Given the description of an element on the screen output the (x, y) to click on. 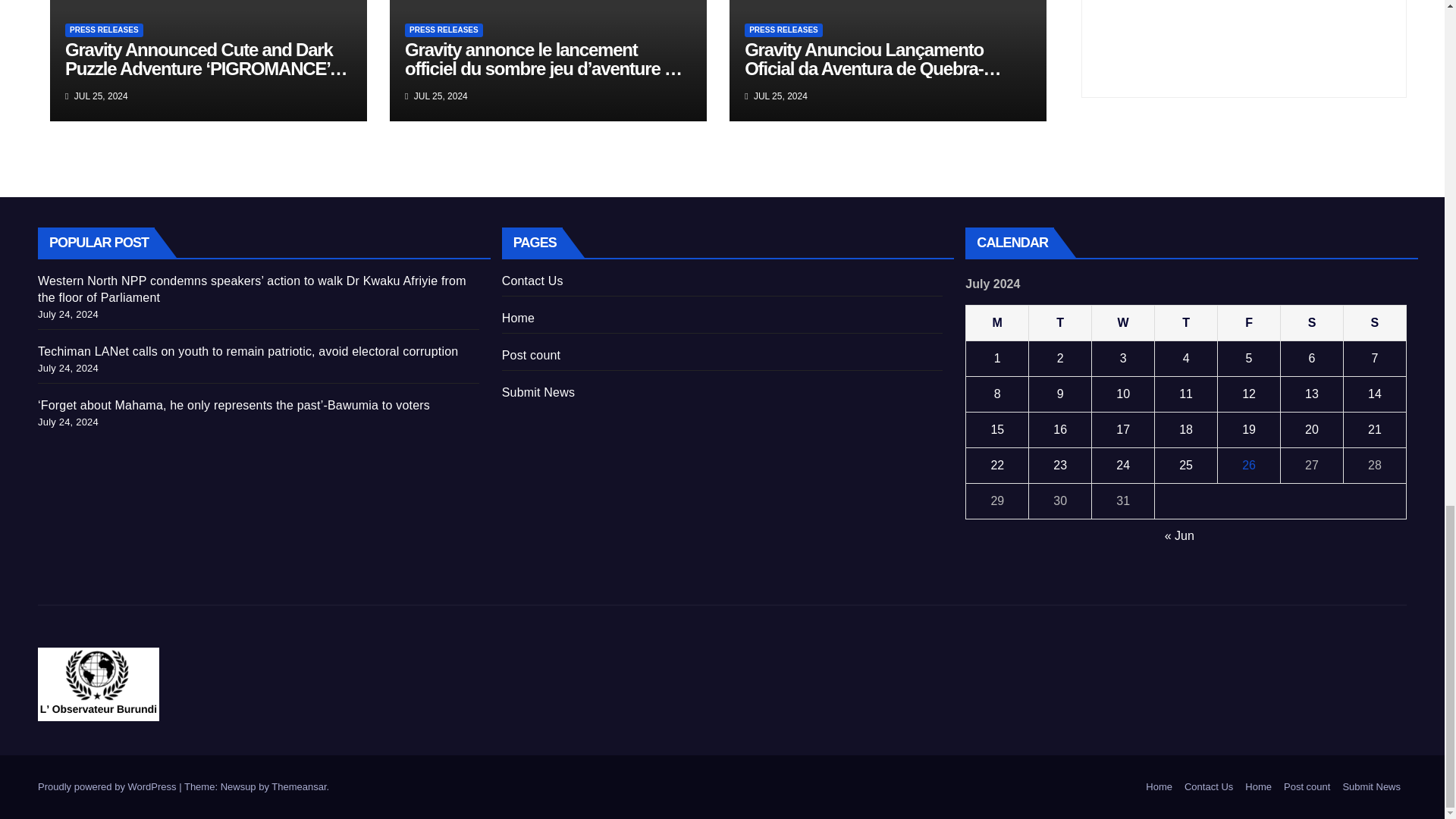
PRESS RELEASES (103, 29)
PRESS RELEASES (783, 29)
PRESS RELEASES (443, 29)
